Given the description of an element on the screen output the (x, y) to click on. 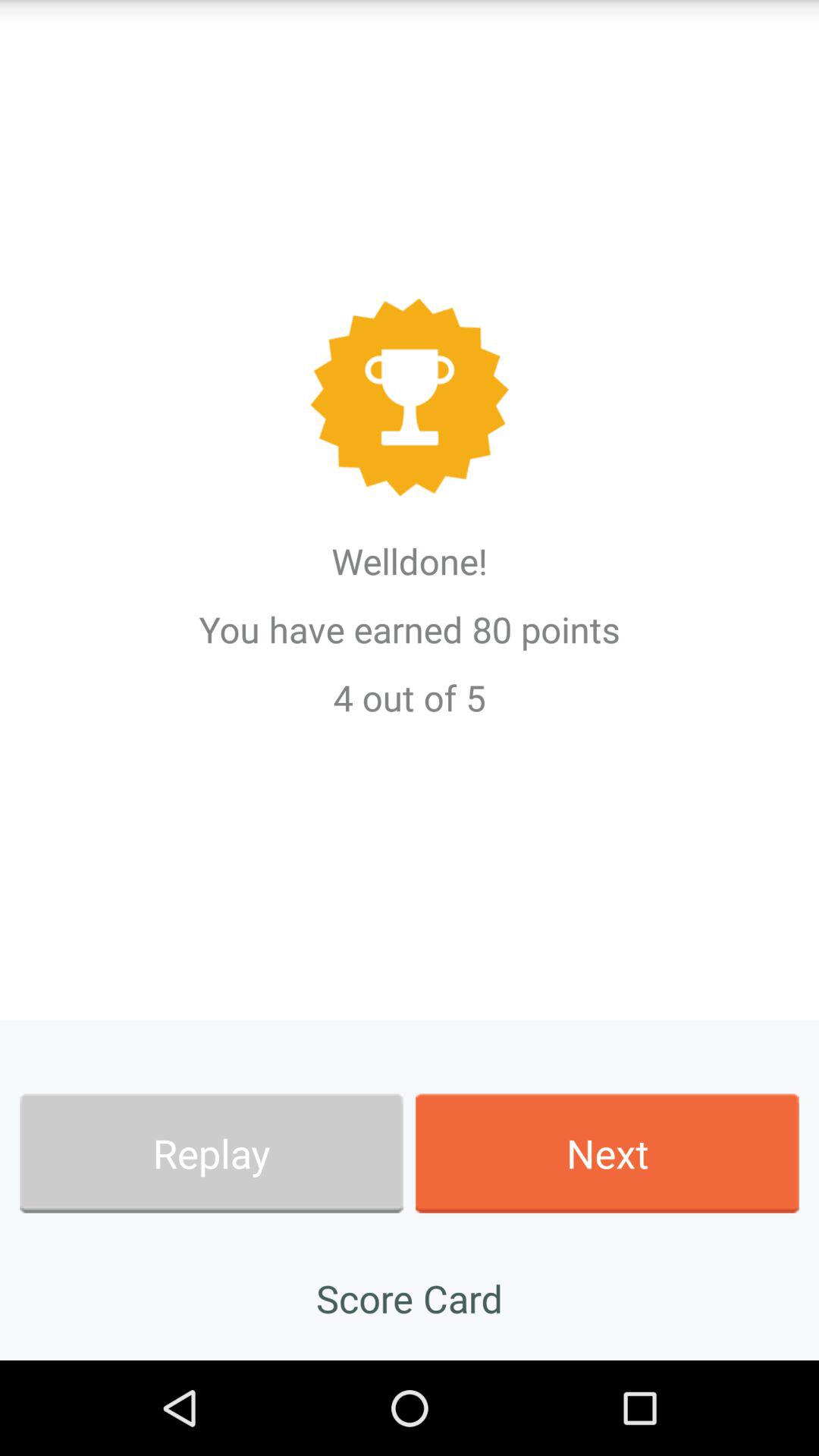
tap the item to the right of replay item (607, 1153)
